Given the description of an element on the screen output the (x, y) to click on. 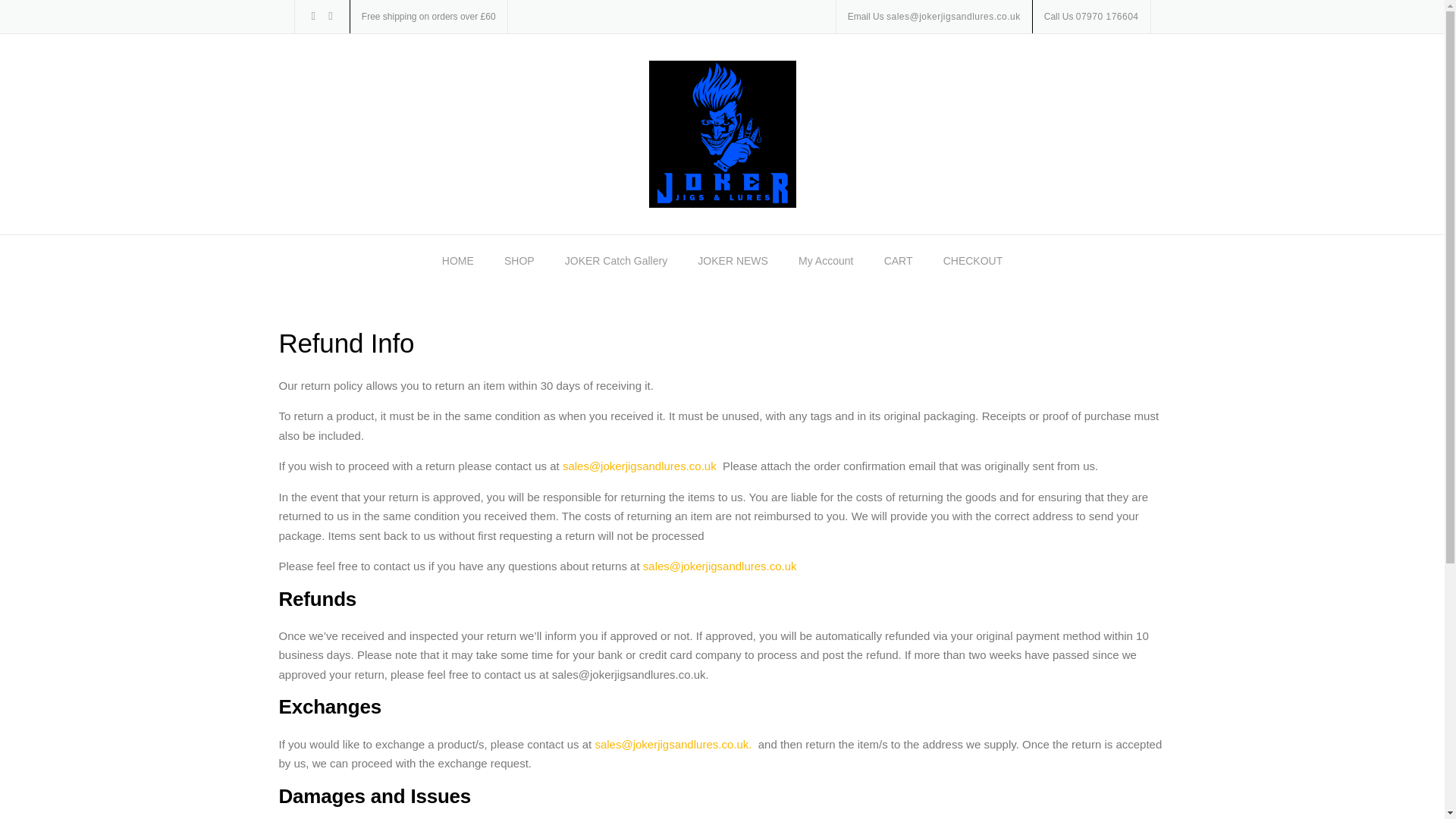
My Account (825, 262)
07970 176604 (1106, 16)
CART (898, 262)
CHECKOUT (973, 262)
Joker Jigs and Lures (722, 132)
SHOP (519, 262)
HOME (457, 262)
JOKER NEWS (732, 262)
JOKER Catch Gallery (616, 262)
